Given the description of an element on the screen output the (x, y) to click on. 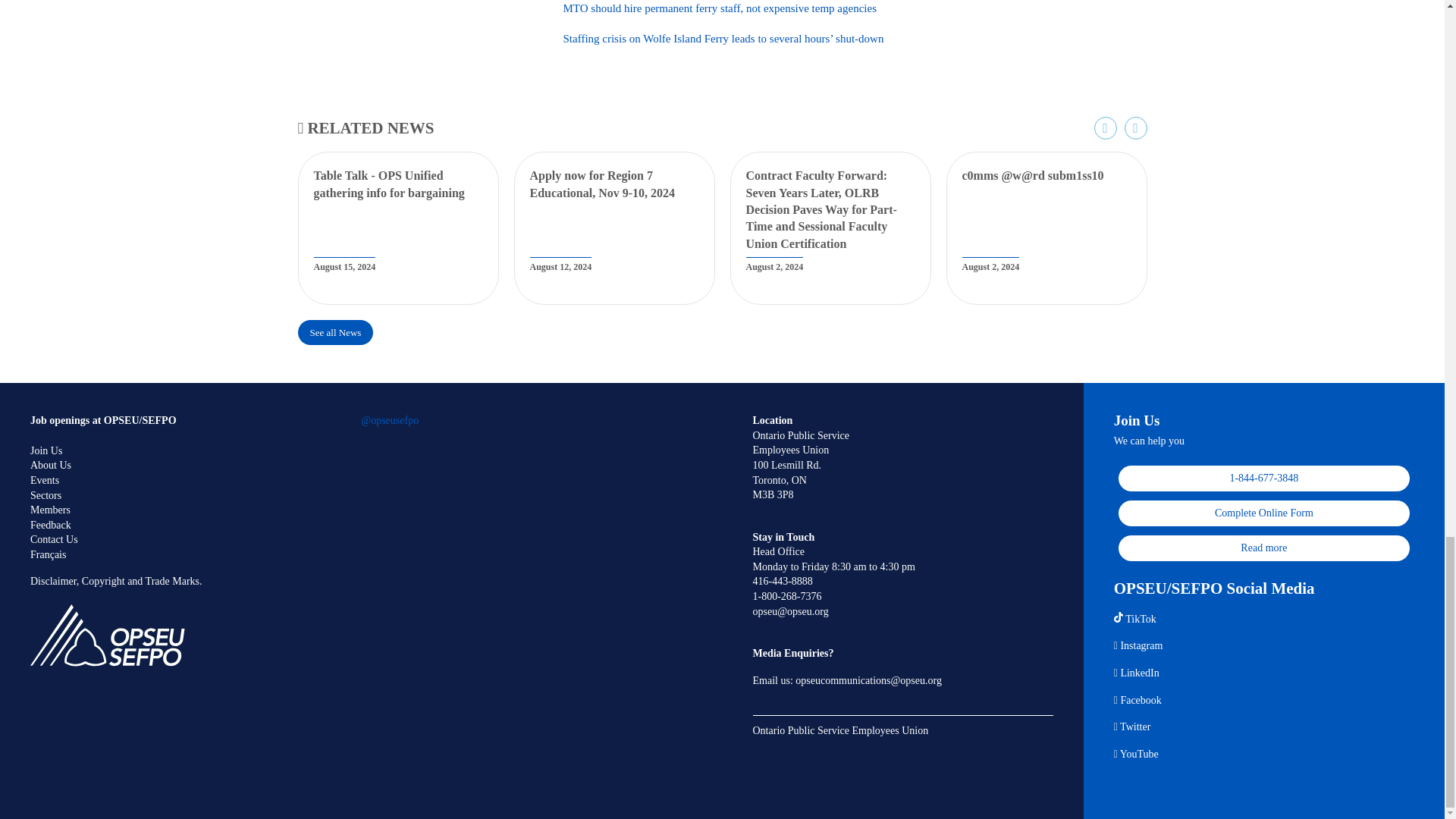
2024-08-02T14:16:36-04:00 (989, 266)
2024-08-12T15:11:28-04:00 (560, 266)
2024-08-15T13:09:57-04:00 (344, 266)
2024-08-02T16:10:58-04:00 (774, 266)
